Given the description of an element on the screen output the (x, y) to click on. 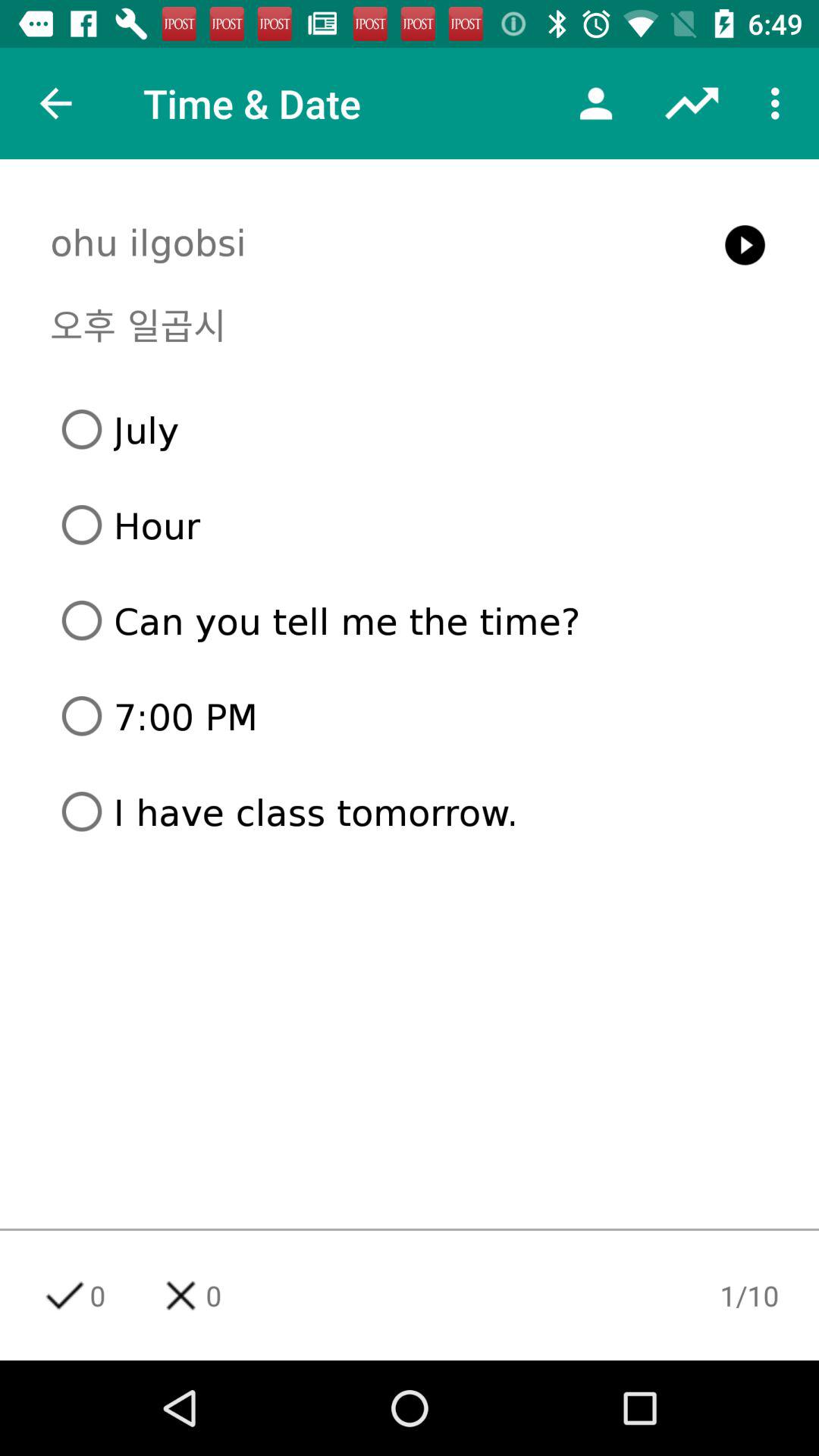
click the 7:00 pm icon (415, 715)
